Given the description of an element on the screen output the (x, y) to click on. 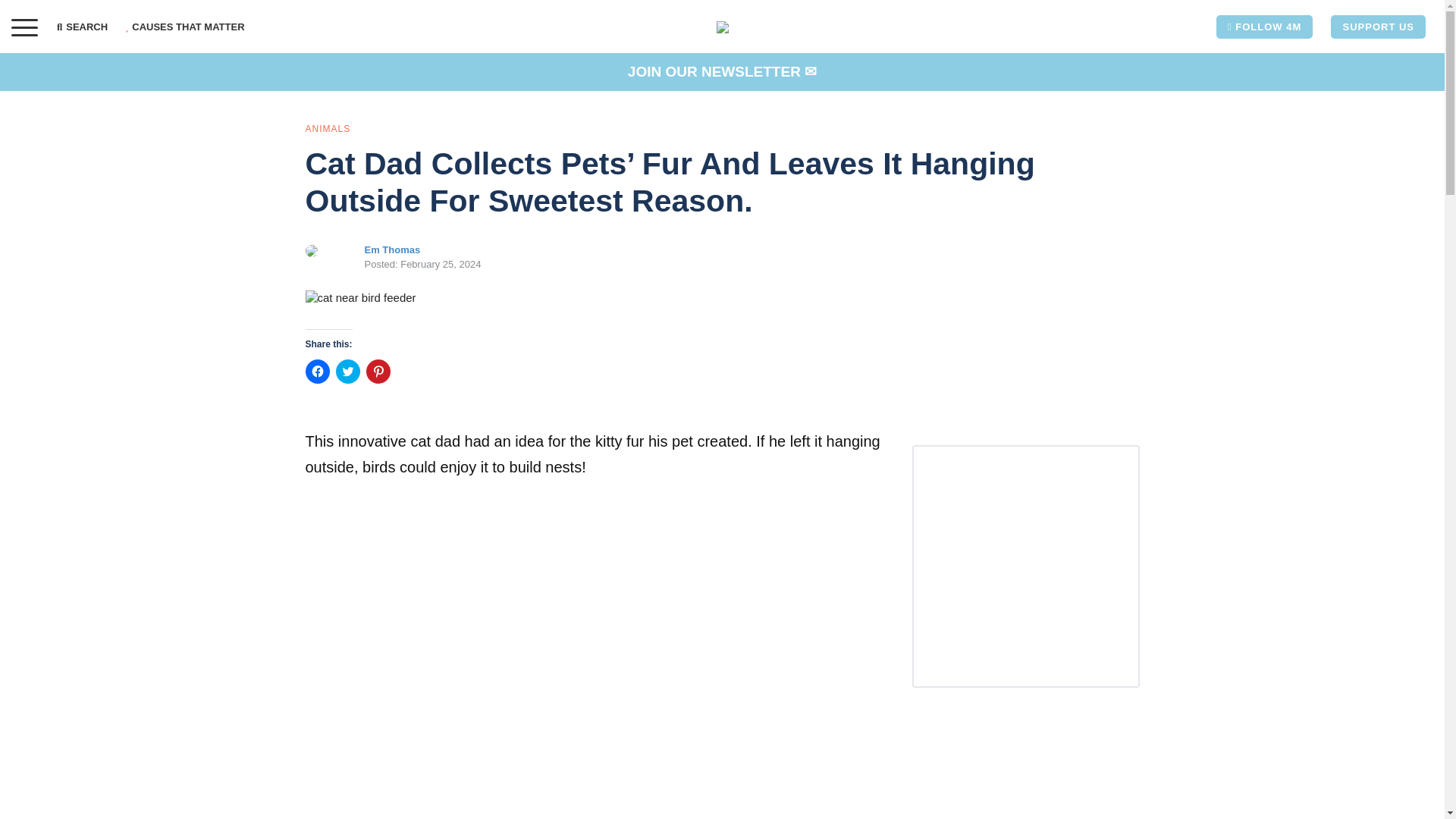
Em Thomas (392, 249)
ANIMALS (327, 127)
Click to share on Twitter (346, 371)
SUPPORT US (1377, 26)
SEARCH (86, 26)
FOLLOW 4M (1264, 26)
Click to share on Pinterest (377, 371)
Click to share on Facebook (316, 371)
CAUSES THAT MATTER (184, 26)
